Given the description of an element on the screen output the (x, y) to click on. 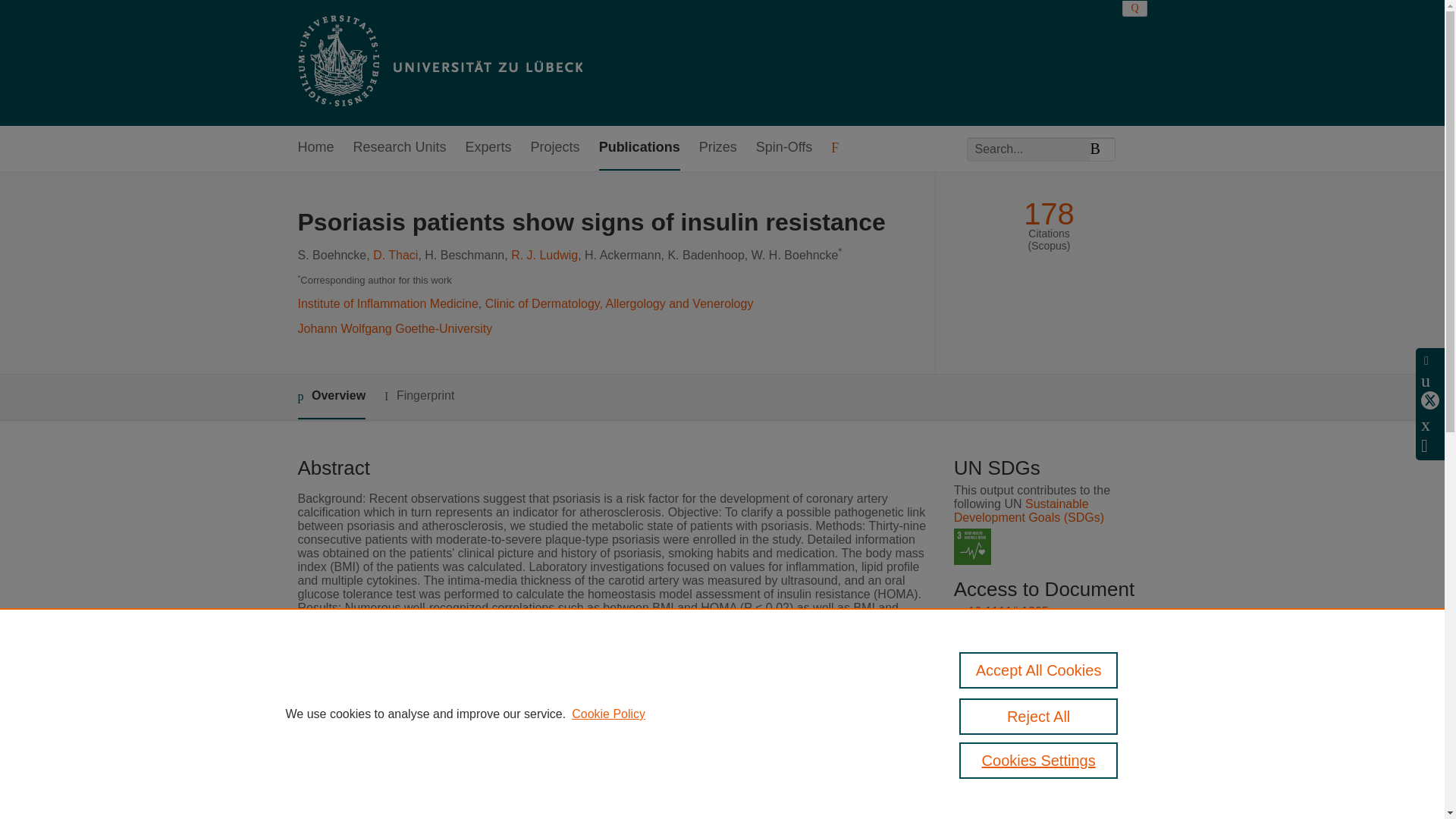
Projects (555, 148)
178 (1048, 213)
SDG 3 - Good Health and Well-being (972, 546)
Overview (331, 396)
Publications (638, 148)
Link to publication in Scopus (1045, 684)
R. J. Ludwig (544, 254)
University of Luebeck Home (438, 62)
Research Units (399, 148)
British Journal of Dermatology (589, 772)
Fingerprint (419, 395)
Experts (488, 148)
Johann Wolfgang Goethe-University (394, 328)
D. Thaci (394, 254)
Institute of Inflammation Medicine (387, 303)
